Given the description of an element on the screen output the (x, y) to click on. 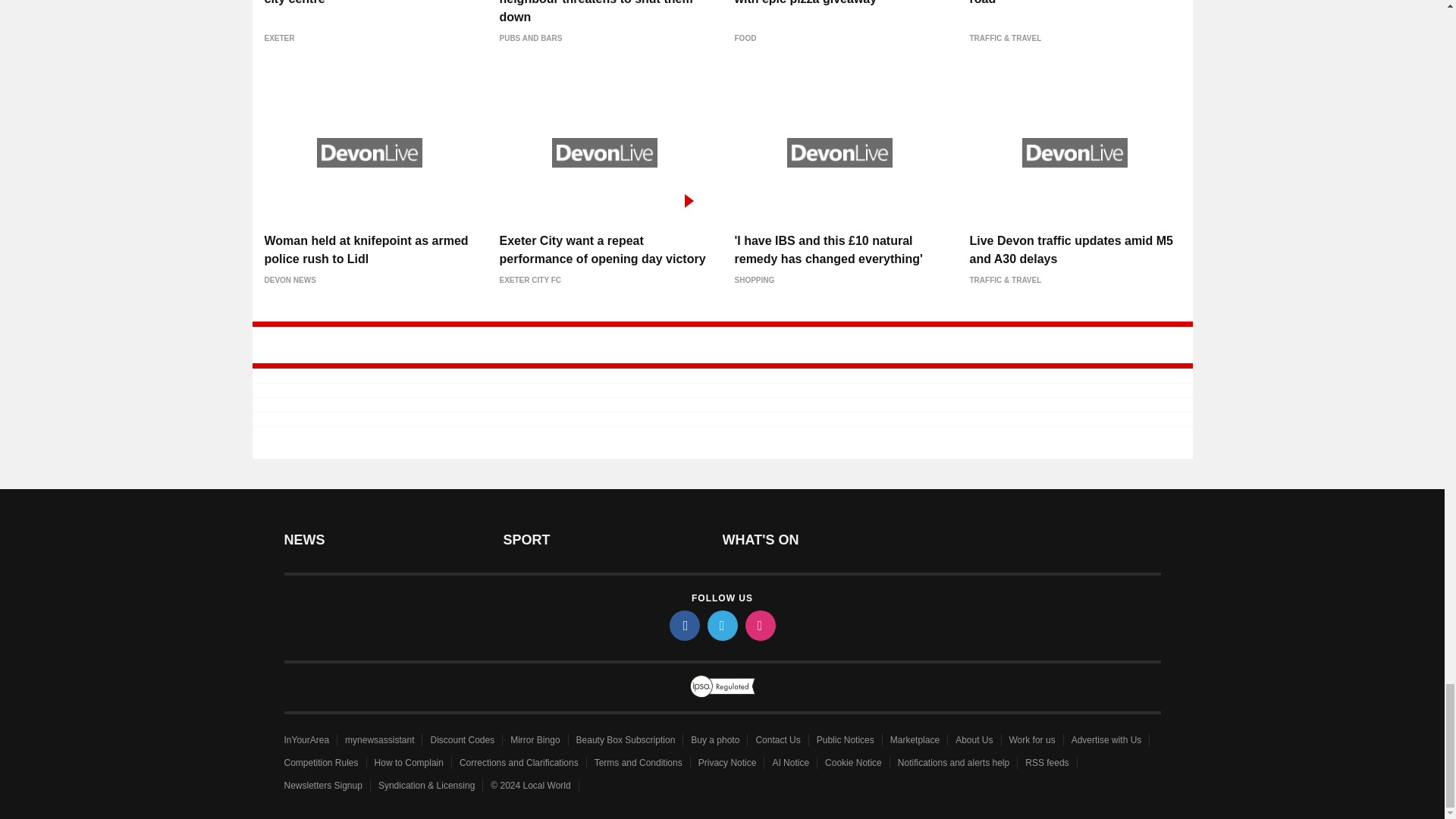
facebook (683, 625)
instagram (759, 625)
twitter (721, 625)
